Given the description of an element on the screen output the (x, y) to click on. 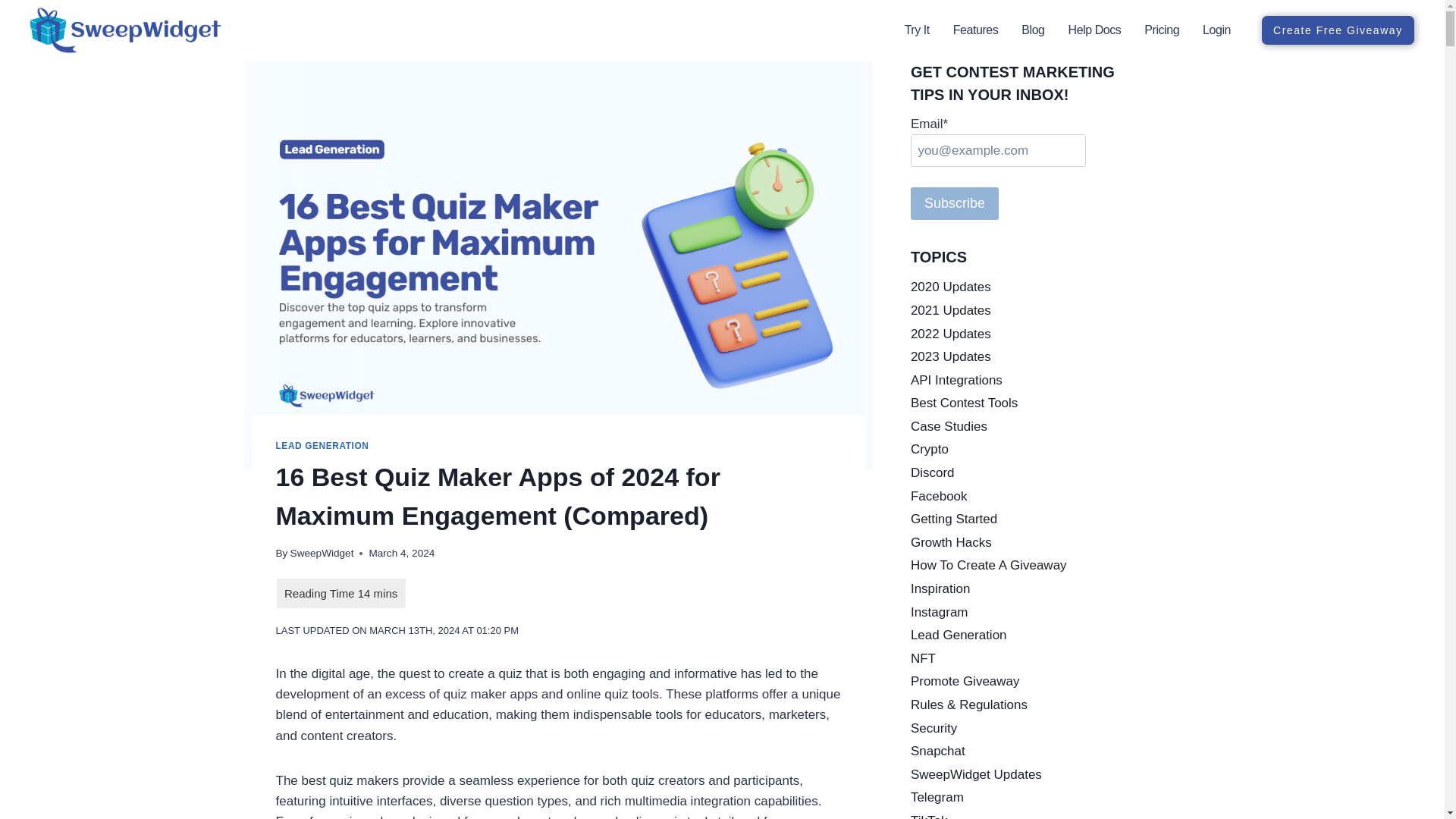
Blog (1032, 29)
Help Docs (1094, 29)
LEAD GENERATION (322, 445)
Try It (917, 29)
Login (1216, 29)
Pricing (1160, 29)
Subscribe (954, 203)
Features (975, 29)
SweepWidget (321, 552)
Create Free Giveaway (1337, 30)
